Given the description of an element on the screen output the (x, y) to click on. 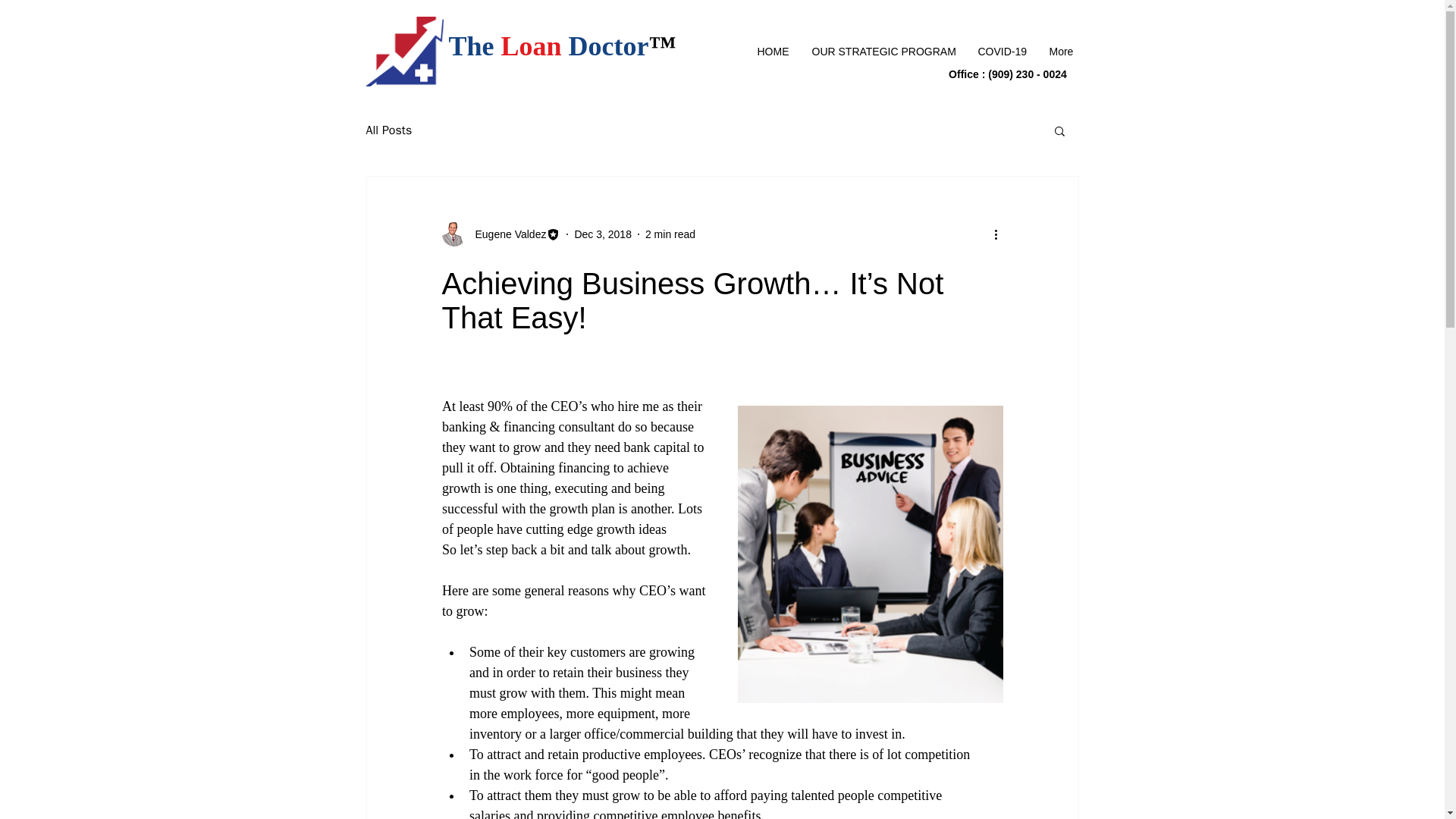
All Posts (388, 130)
Doctor (609, 46)
HOME (772, 51)
Eugene Valdez (505, 233)
COVID-19 (1001, 51)
2 min read (670, 233)
The (474, 46)
Dec 3, 2018 (602, 233)
Loan (531, 46)
OUR STRATEGIC PROGRAM (883, 51)
